Given the description of an element on the screen output the (x, y) to click on. 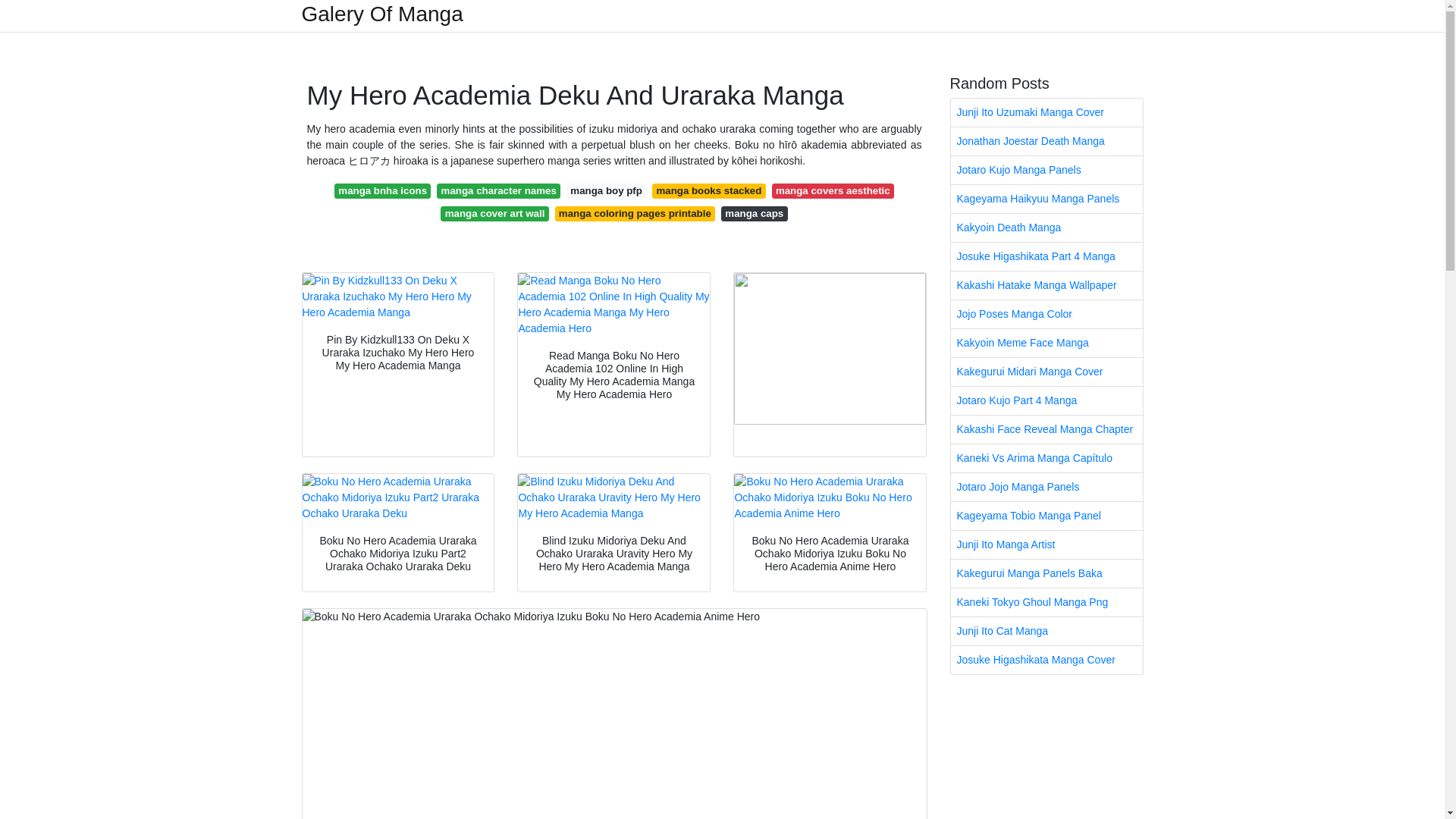
manga books stacked (708, 191)
Kakashi Hatake Manga Wallpaper (1046, 285)
Kakegurui Midari Manga Cover (1046, 371)
Kageyama Haikyuu Manga Panels (1046, 198)
Galery Of Manga (382, 13)
Josuke Higashikata Part 4 Manga (1046, 256)
manga character names (498, 191)
Jonathan Joestar Death Manga (1046, 141)
Kakyoin Death Manga (1046, 227)
manga covers aesthetic (832, 191)
manga bnha icons (382, 191)
manga caps (753, 213)
Jotaro Kujo Manga Panels (1046, 170)
manga boy pfp (606, 191)
manga coloring pages printable (635, 213)
